Given the description of an element on the screen output the (x, y) to click on. 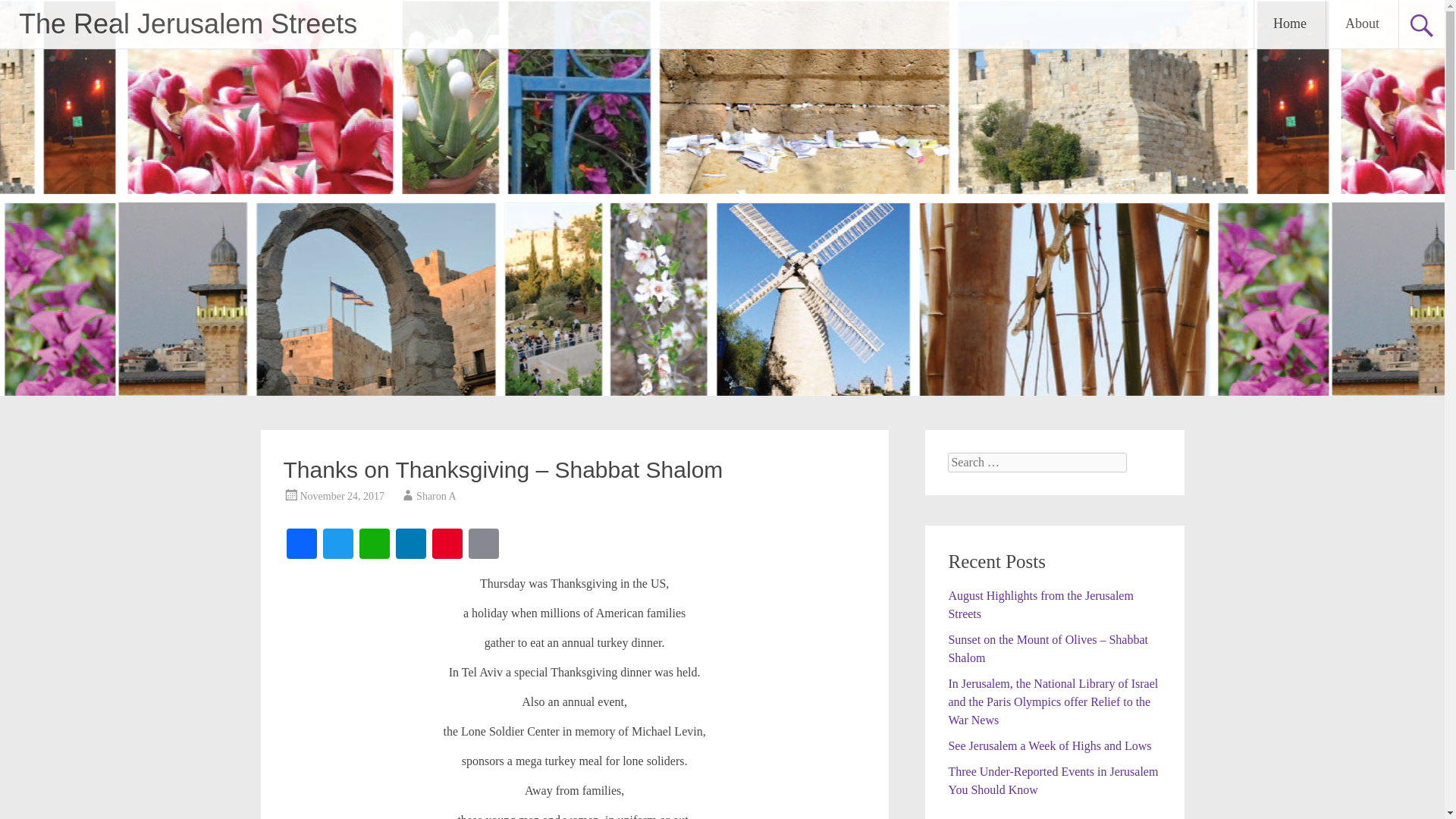
November 24, 2017 (342, 496)
LinkedIn (411, 545)
About (1361, 23)
Twitter (338, 545)
August Highlights from the Jerusalem Streets (1039, 603)
WhatsApp (374, 545)
Email (483, 545)
Sharon A (436, 496)
Home (1288, 23)
Facebook (301, 545)
